Given the description of an element on the screen output the (x, y) to click on. 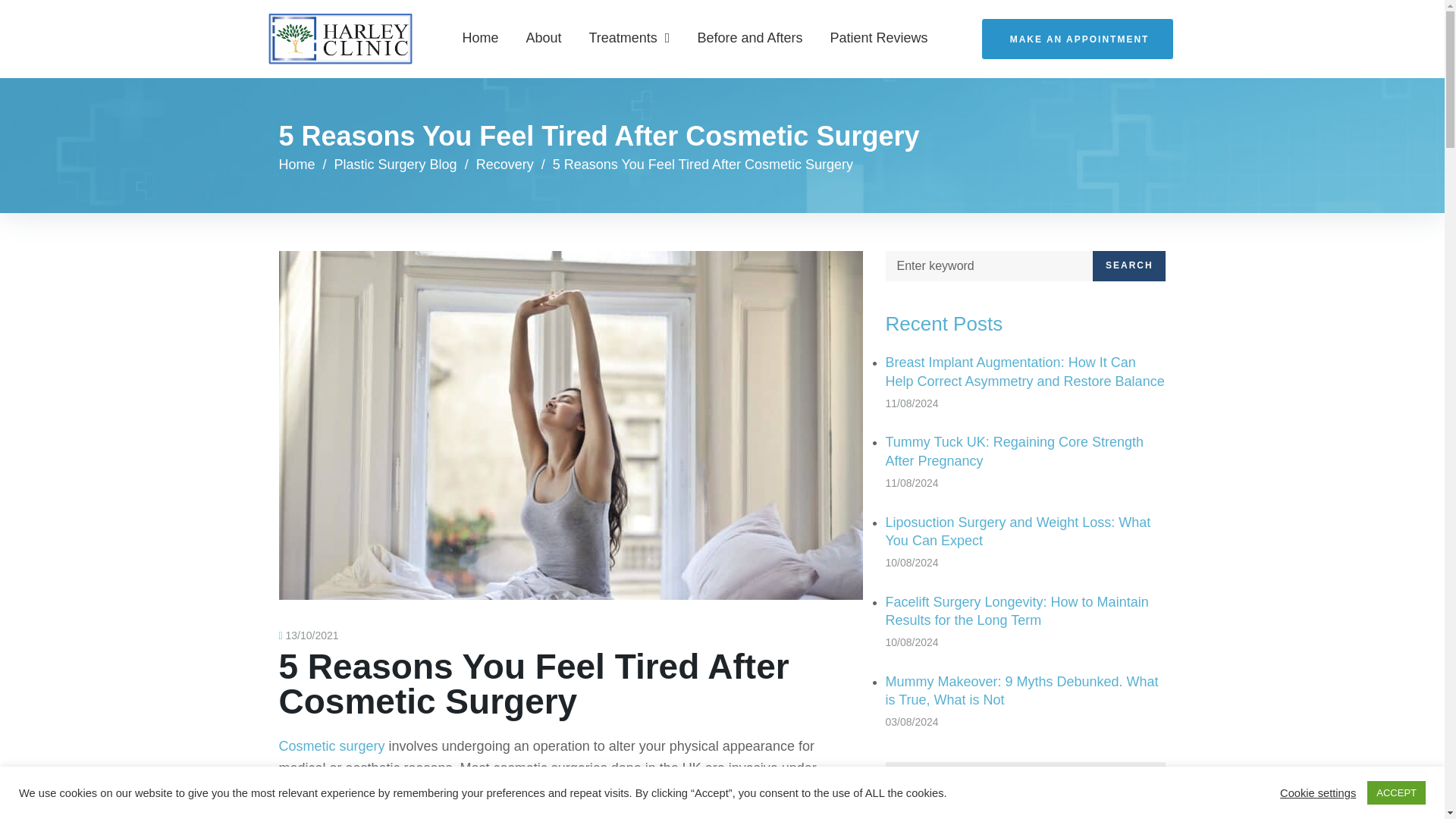
Home (297, 164)
MAKE AN APPOINTMENT (1077, 38)
Treatments (628, 38)
Recovery (505, 164)
Before and Afters (749, 38)
Home (297, 164)
Recovery (505, 164)
Patient Reviews (879, 38)
Plastic Surgery Blog (395, 164)
Plastic Surgery Blog (395, 164)
